Given the description of an element on the screen output the (x, y) to click on. 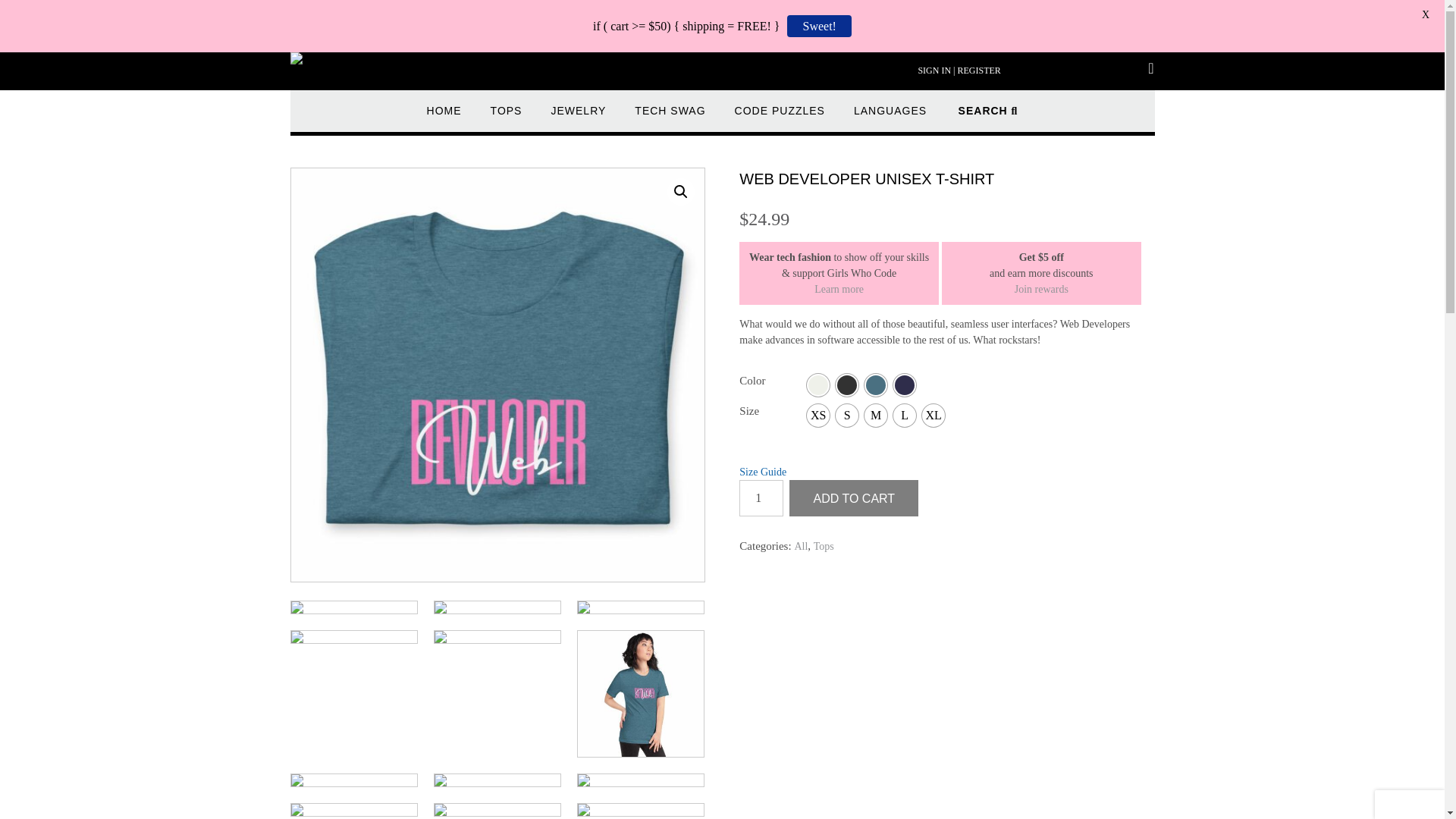
HOME (443, 117)
SEARCH (987, 117)
1 (761, 497)
LANGUAGES (889, 117)
JEWELRY (577, 117)
TECH SWAG (669, 117)
TOPS (506, 117)
CODE PUZZLES (780, 117)
